Given the description of an element on the screen output the (x, y) to click on. 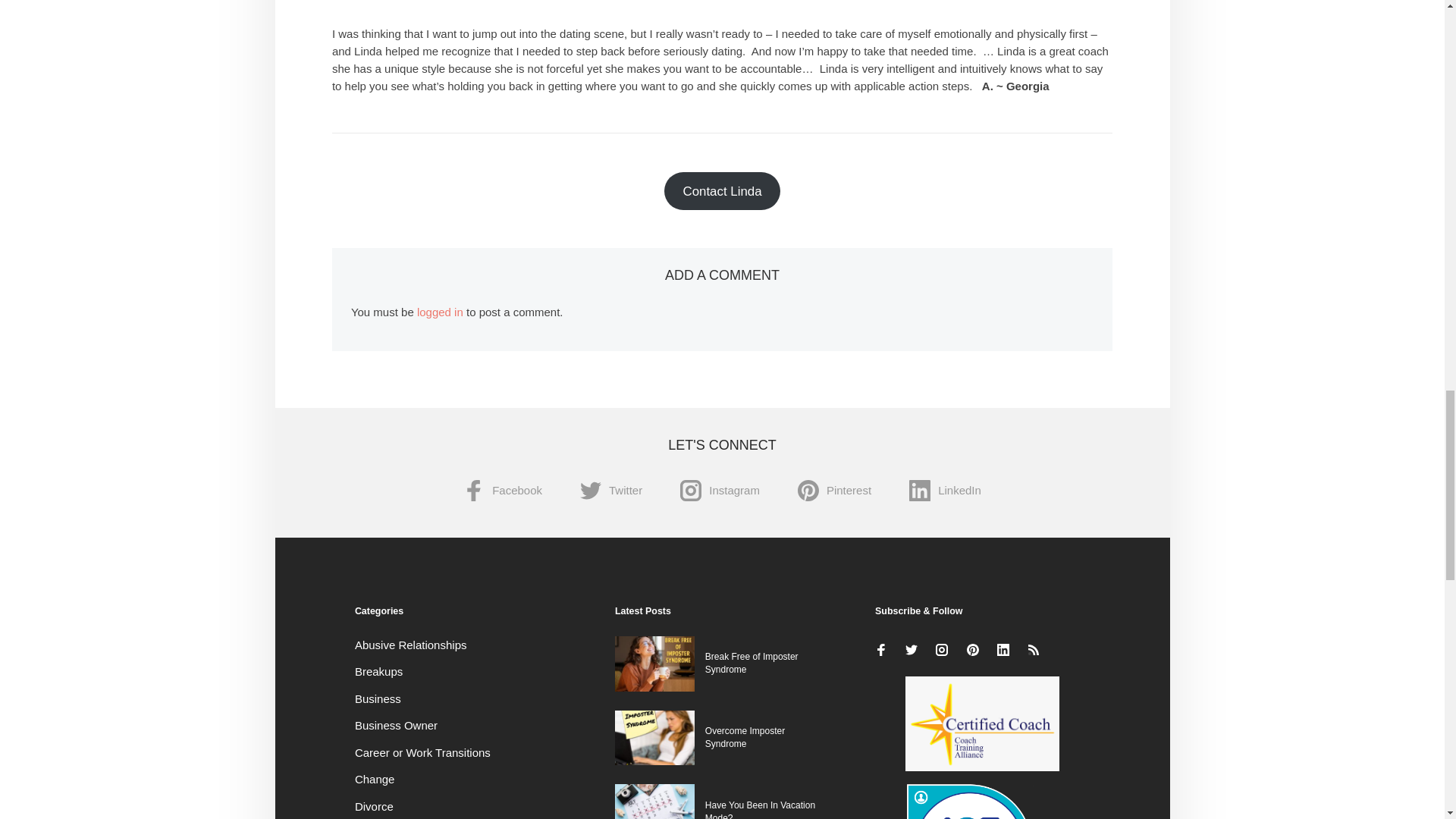
Breakups (379, 671)
LinkedIn (944, 491)
Change (374, 779)
Pinterest (833, 491)
Divorce (374, 806)
logged in (439, 311)
Instagram (719, 491)
Abusive Relationships (411, 644)
Twitter (610, 491)
Business Owner (396, 725)
Business (378, 698)
Career or Work Transitions (422, 752)
Facebook (502, 491)
Contact Linda (721, 190)
